Given the description of an element on the screen output the (x, y) to click on. 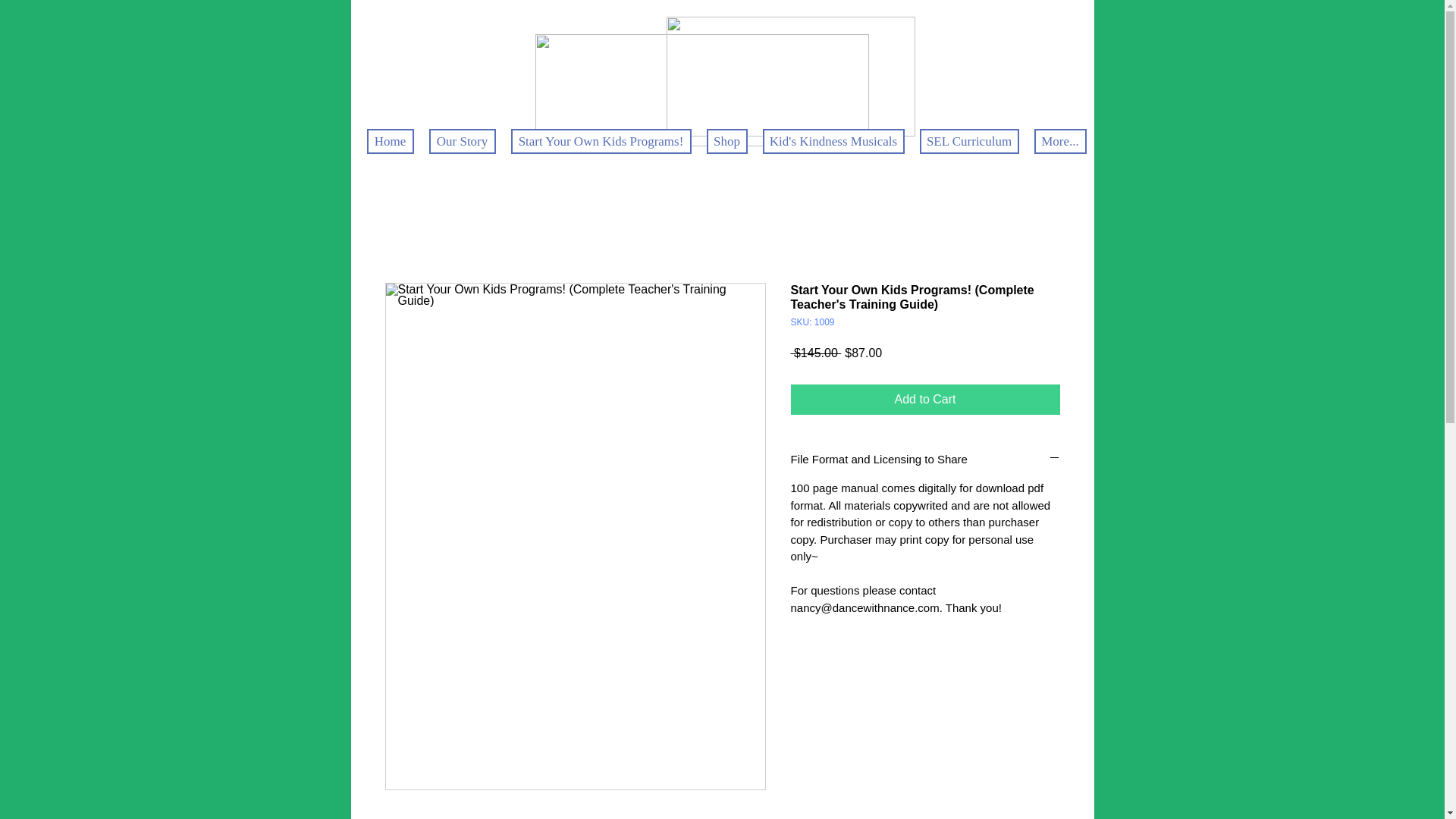
File Format and Licensing to Share (924, 458)
Kid's Kindness Musicals (833, 140)
Home (389, 140)
Add to Cart (924, 399)
Shop (727, 140)
Our Story (462, 140)
SEL Curriculum (967, 140)
Start Your Own Kids Programs! (601, 140)
